Given the description of an element on the screen output the (x, y) to click on. 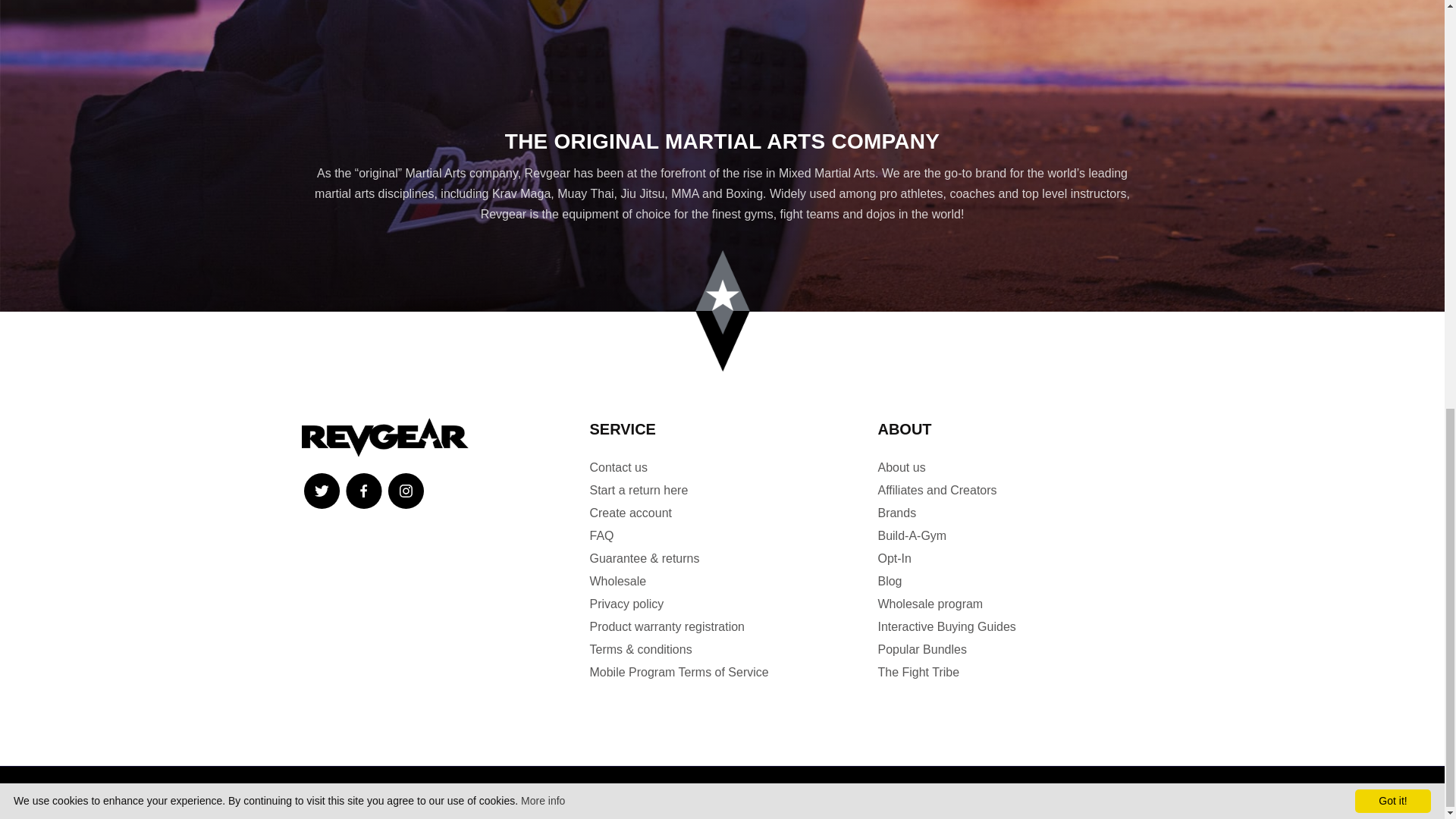
Revgear (384, 437)
